Given the description of an element on the screen output the (x, y) to click on. 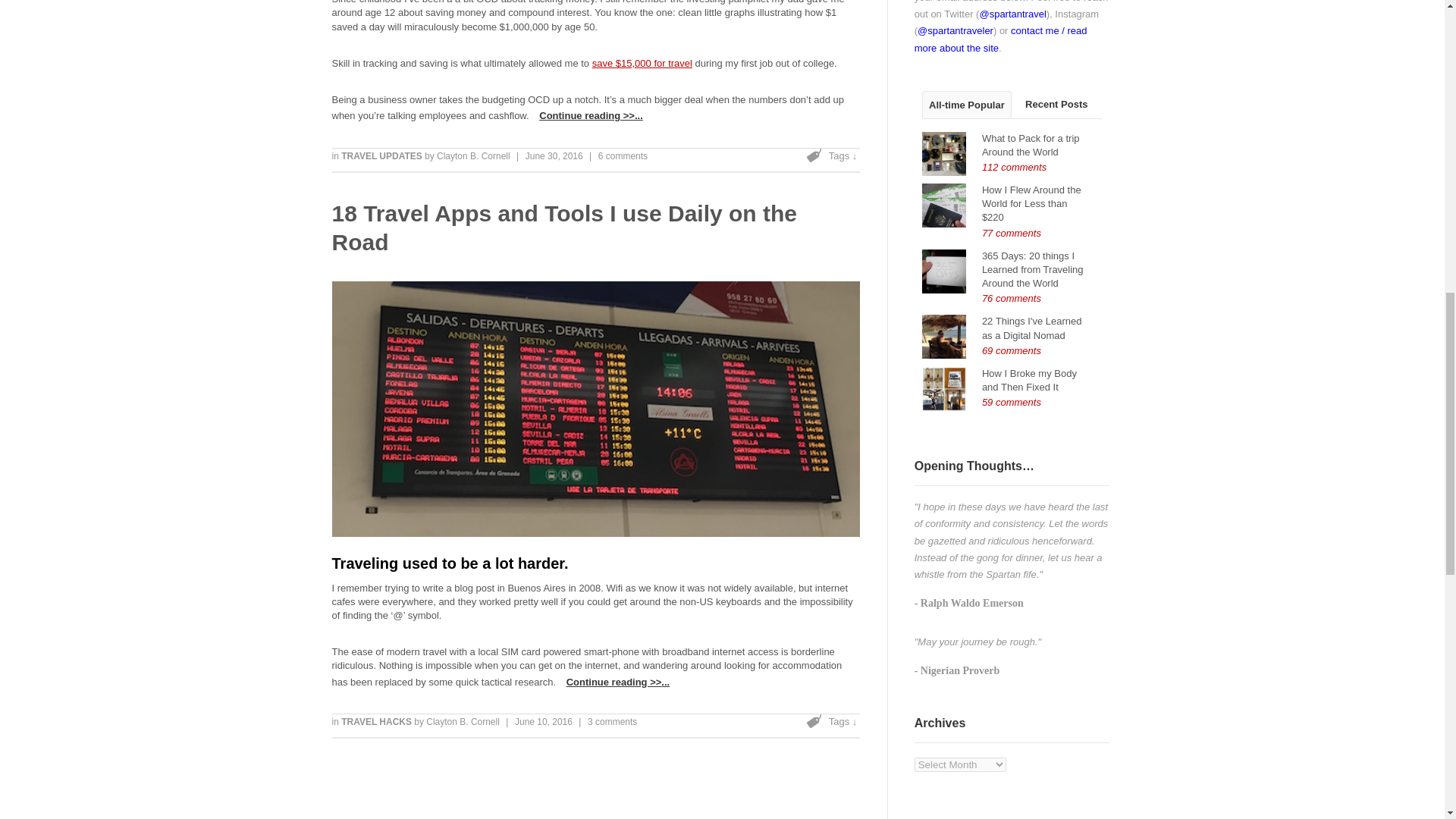
Clayton B. Cornell (462, 721)
3 comments (612, 721)
18 Travel Apps and Tools I use Daily on the Road (564, 227)
Clayton B. Cornell (473, 155)
TRAVEL UPDATES (382, 155)
TRAVEL HACKS (376, 721)
6 comments (622, 155)
